Given the description of an element on the screen output the (x, y) to click on. 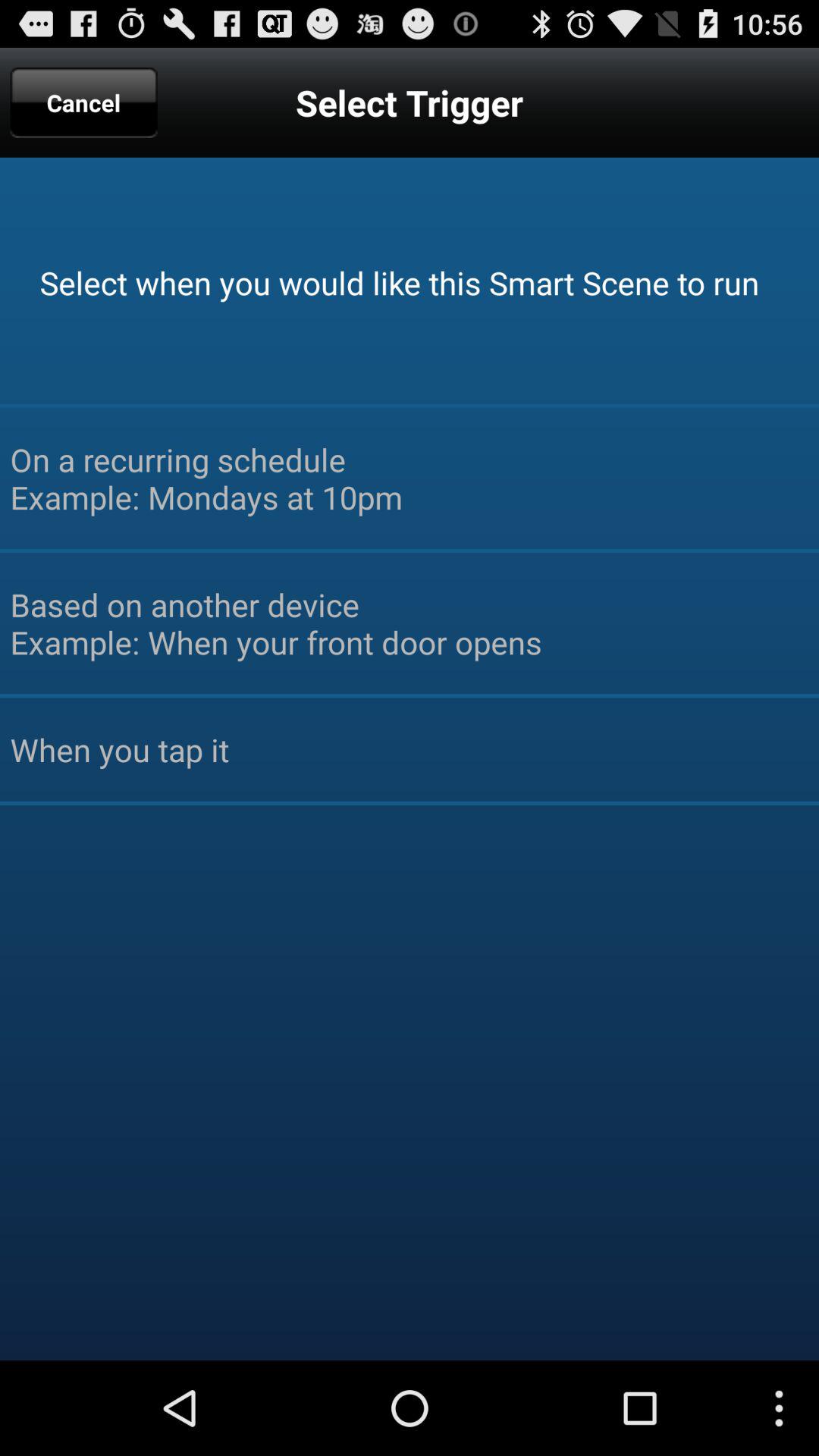
tap on a recurring (409, 477)
